Given the description of an element on the screen output the (x, y) to click on. 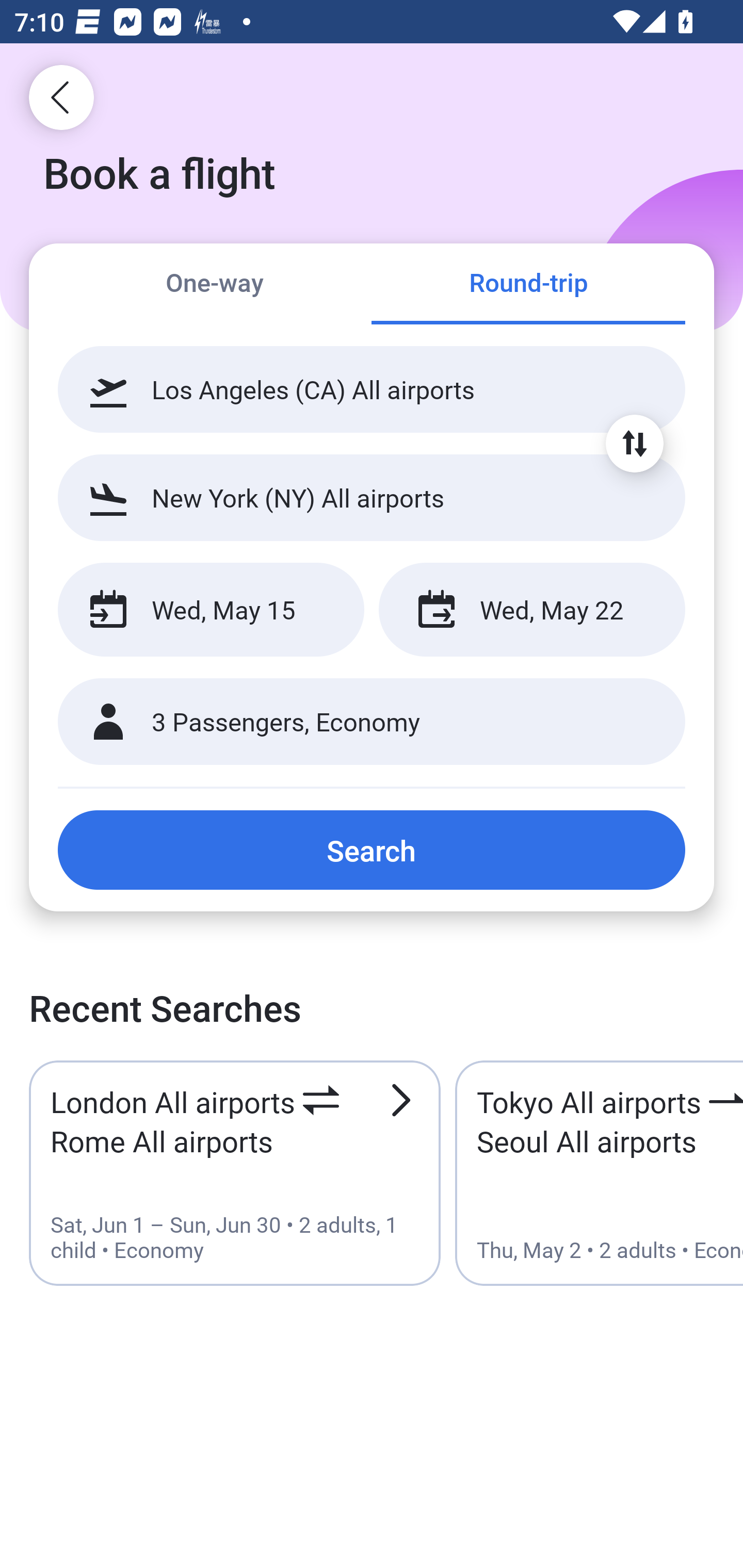
One-way (214, 284)
Los Angeles (CA) All airports (371, 389)
New York (NY) All airports (371, 497)
Wed, May 15 (210, 609)
Wed, May 22 (531, 609)
3 Passengers, Economy (371, 721)
Search (371, 849)
